Given the description of an element on the screen output the (x, y) to click on. 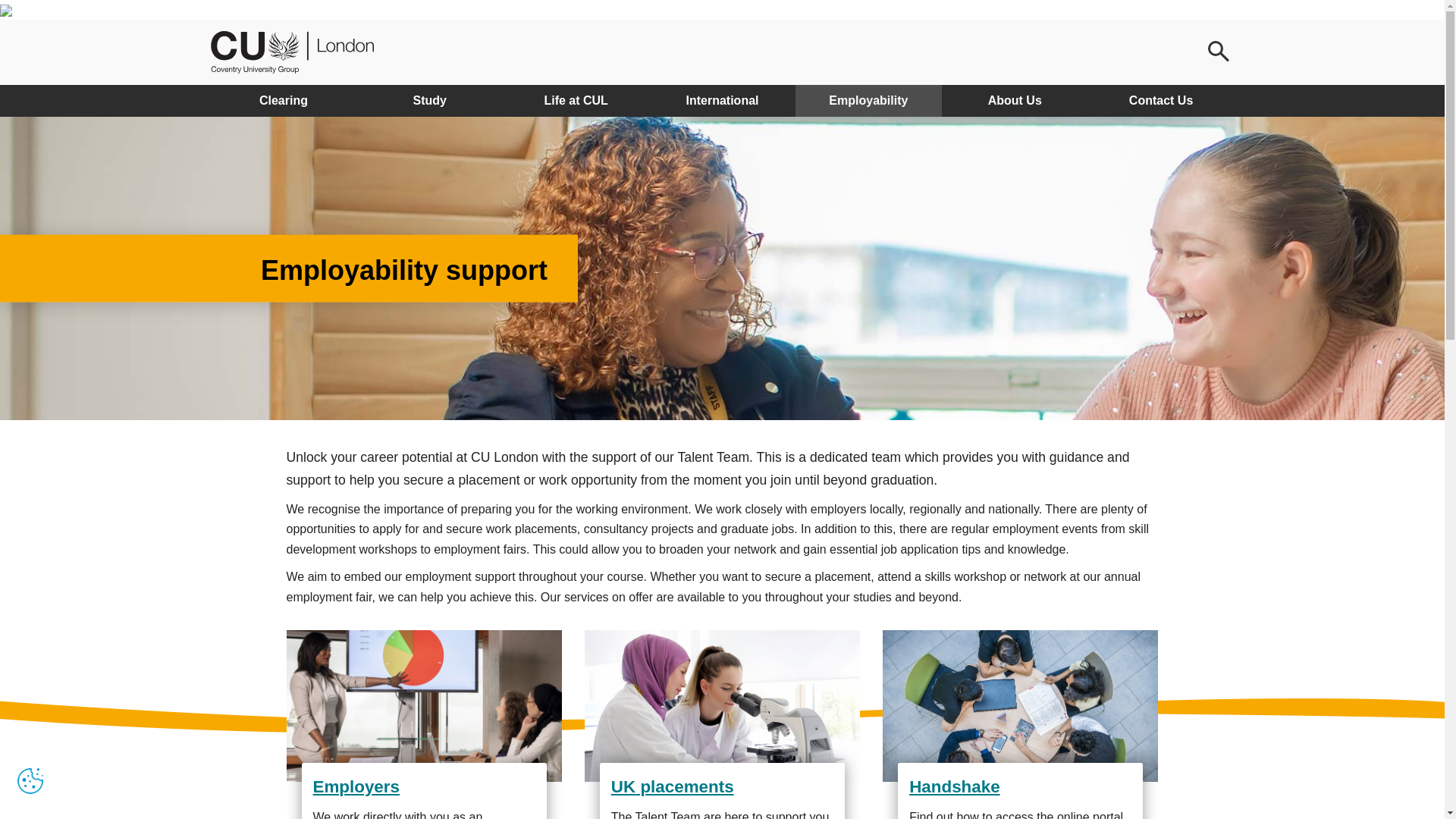
CU London (292, 52)
International (721, 101)
About Us (1014, 101)
Life at CUL (575, 101)
Contact Us (1160, 101)
Employability (868, 101)
Study (429, 101)
Clearing (283, 101)
